Given the description of an element on the screen output the (x, y) to click on. 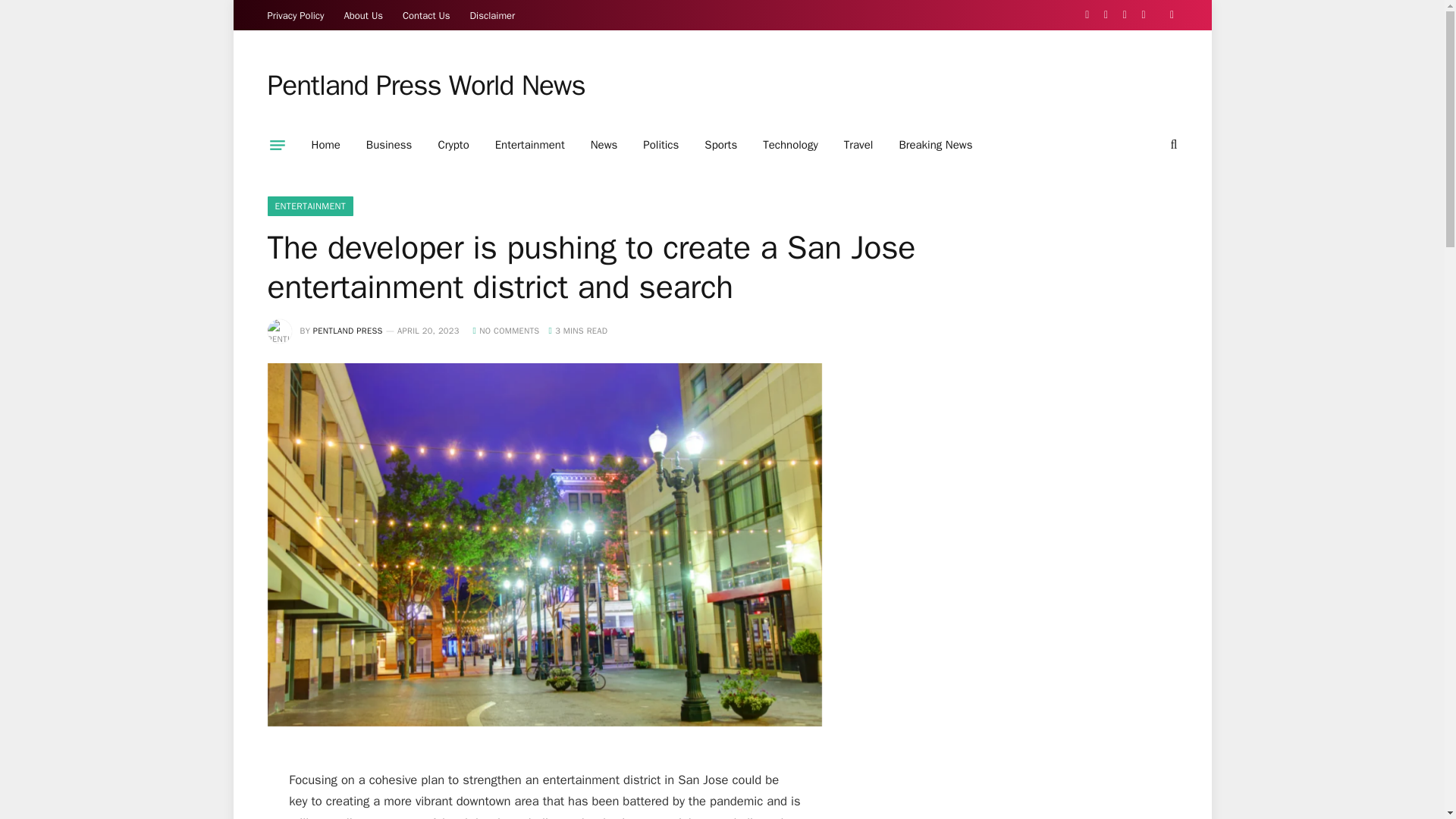
Disclaimer (492, 15)
Privacy Policy (295, 15)
Breaking News (935, 144)
PENTLAND PRESS (347, 330)
Business (389, 144)
Pentland Press World News (425, 85)
Technology (790, 144)
Sports (720, 144)
Contact Us (426, 15)
Travel (858, 144)
Crypto (453, 144)
About Us (363, 15)
News (604, 144)
ENTERTAINMENT (309, 206)
